Given the description of an element on the screen output the (x, y) to click on. 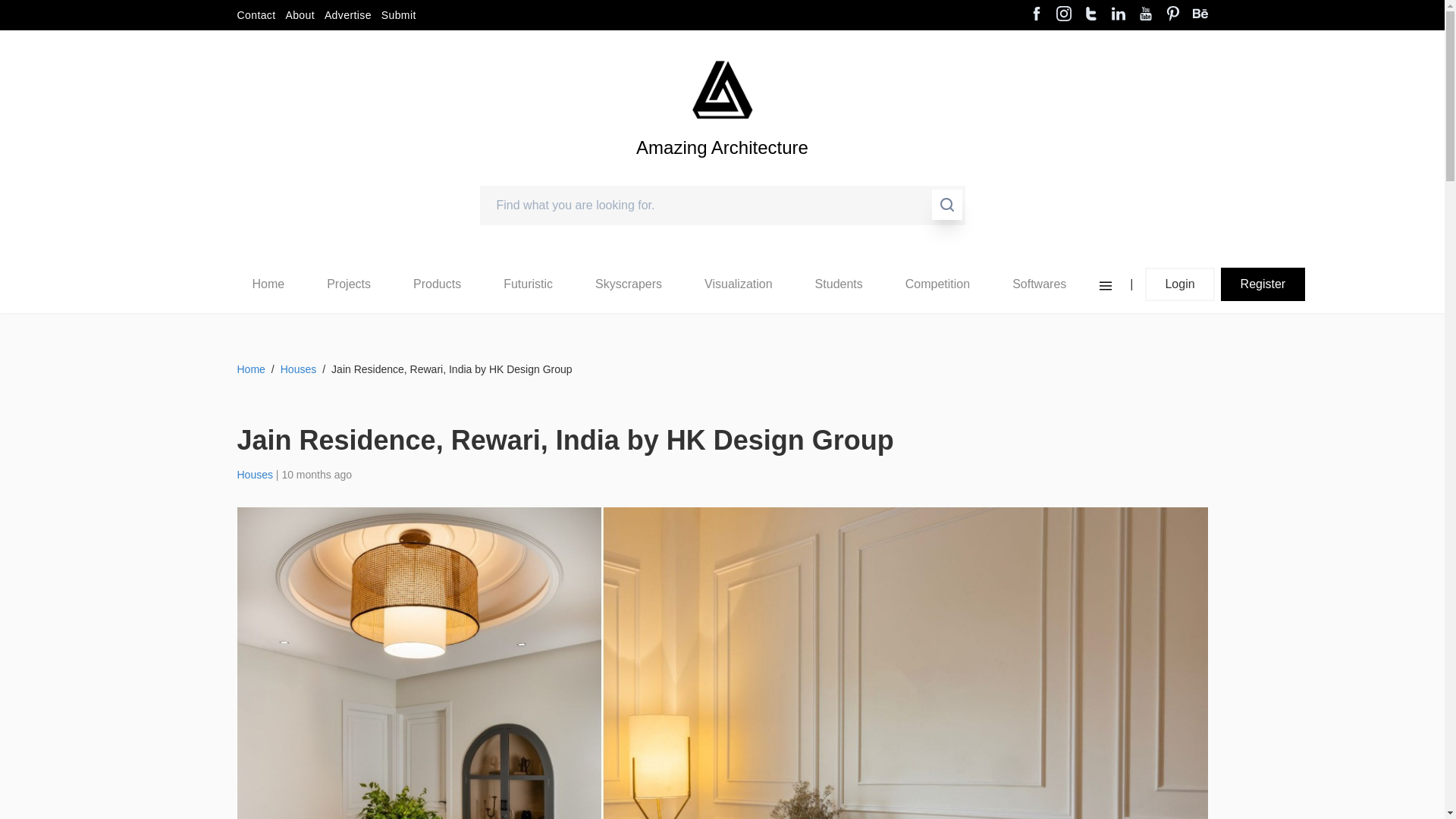
Projects (348, 283)
Amazing Architecture (722, 173)
Advertise (347, 15)
About (299, 15)
Projects (348, 283)
About us page (299, 15)
Projects (348, 284)
Products (437, 283)
Home (267, 284)
Submit page (398, 15)
